Given the description of an element on the screen output the (x, y) to click on. 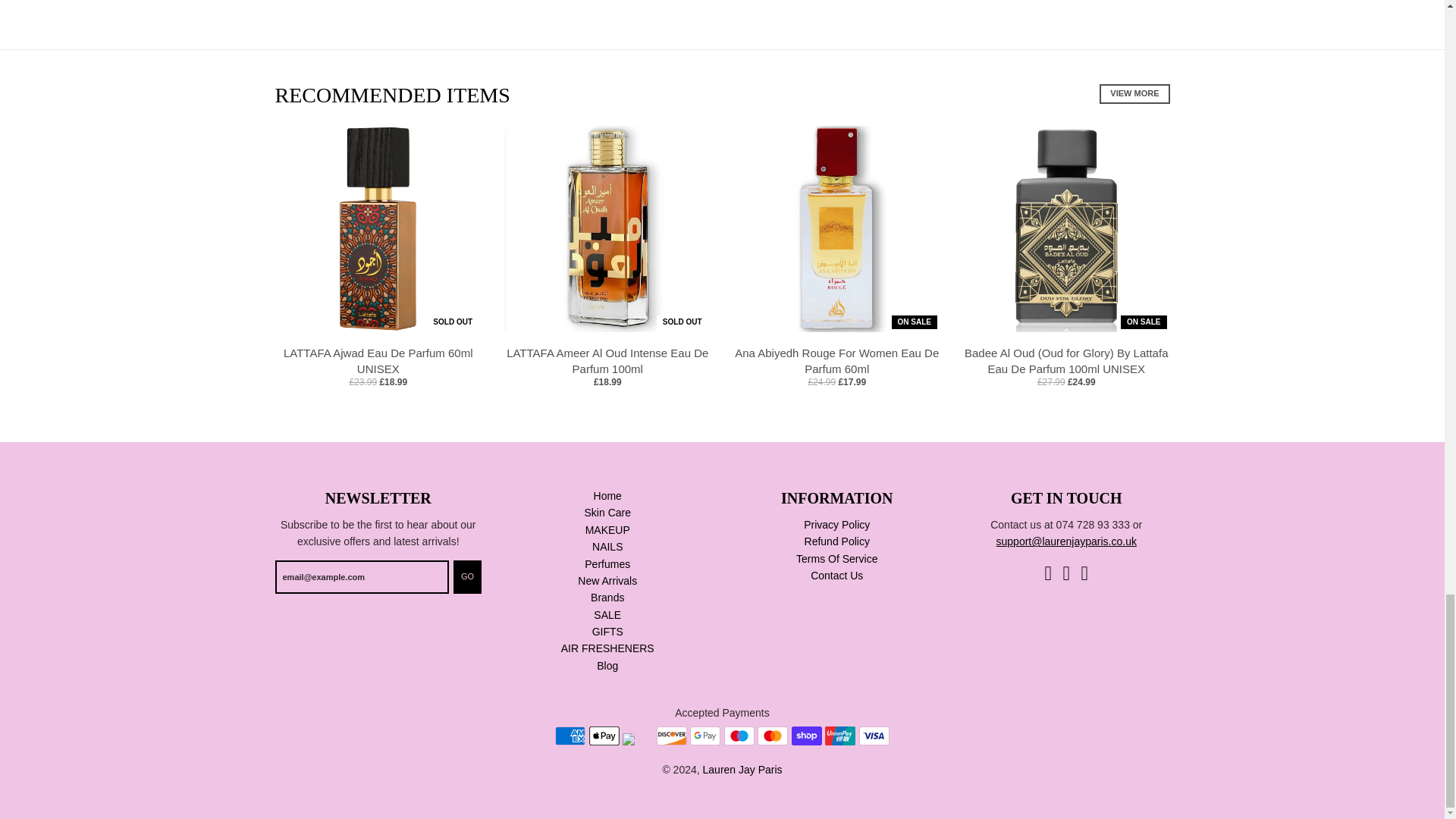
Lauren Jay Paris on Instagram (1066, 571)
Lauren Jay Paris on Youtube (1085, 571)
Lauren Jay Paris on Facebook (1047, 571)
